Given the description of an element on the screen output the (x, y) to click on. 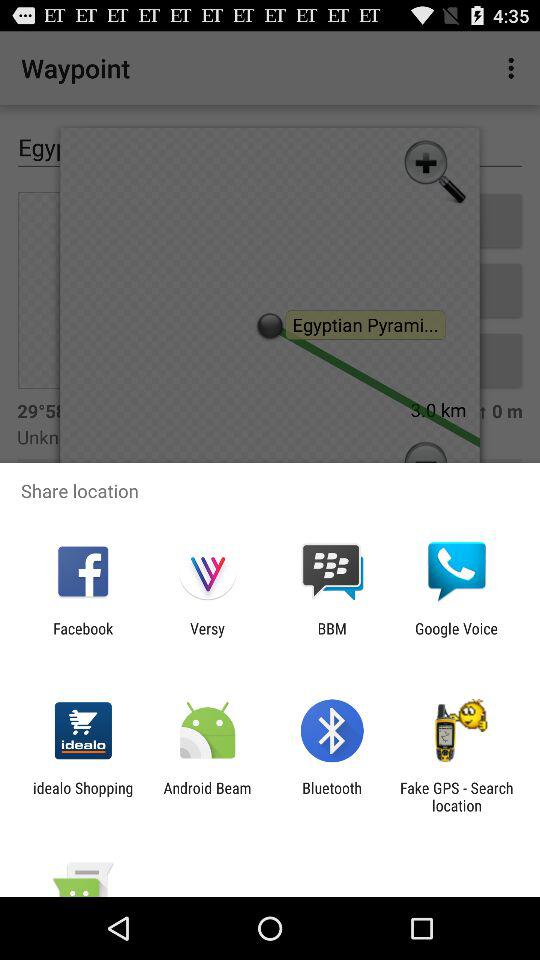
choose item to the left of the fake gps search icon (331, 796)
